Given the description of an element on the screen output the (x, y) to click on. 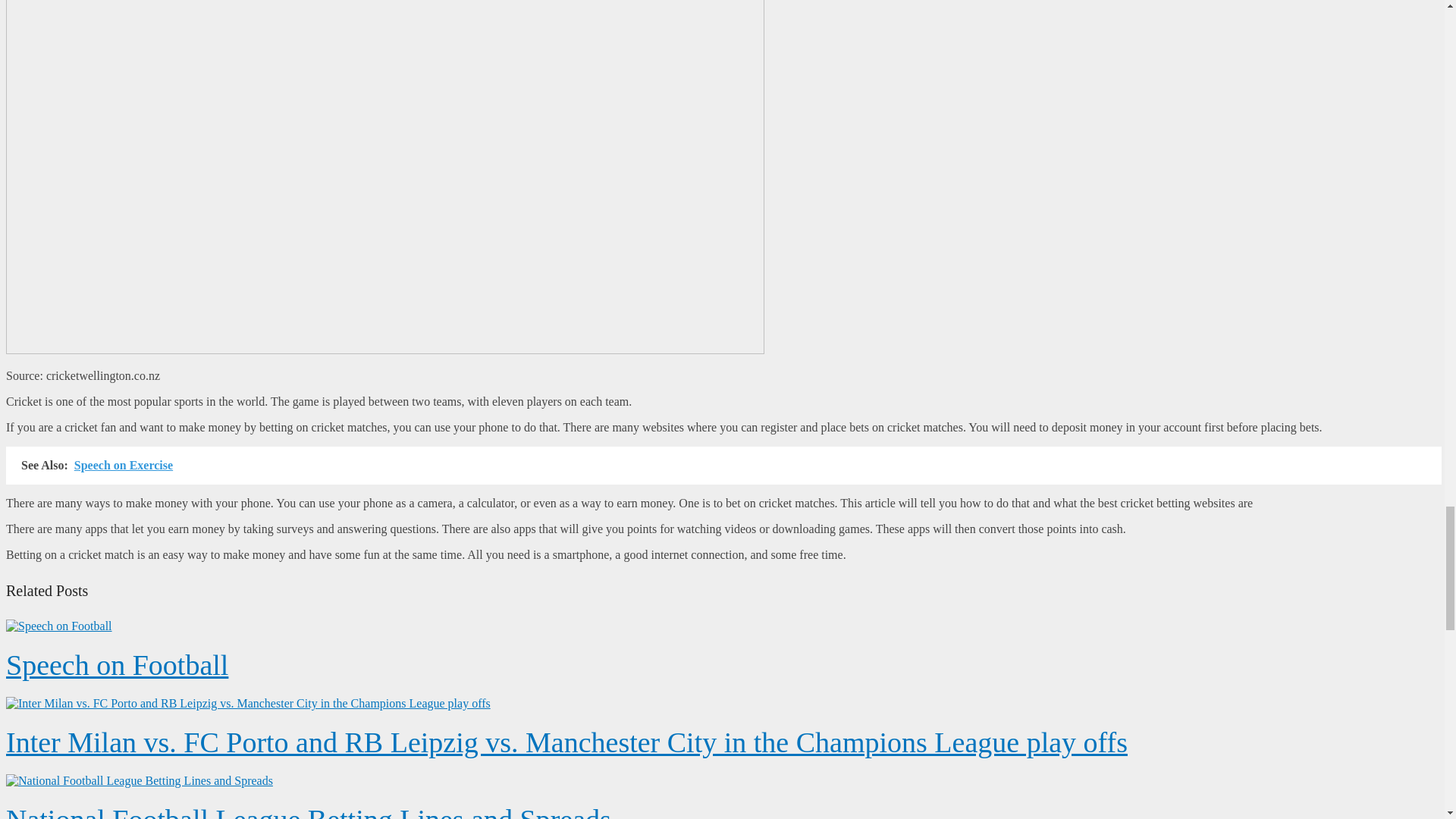
Speech on Football (116, 664)
Speech on Football (116, 664)
National Football League Betting Lines and Spreads (139, 780)
National Football League Betting Lines and Spreads (308, 811)
Speech on Football (58, 626)
